Given the description of an element on the screen output the (x, y) to click on. 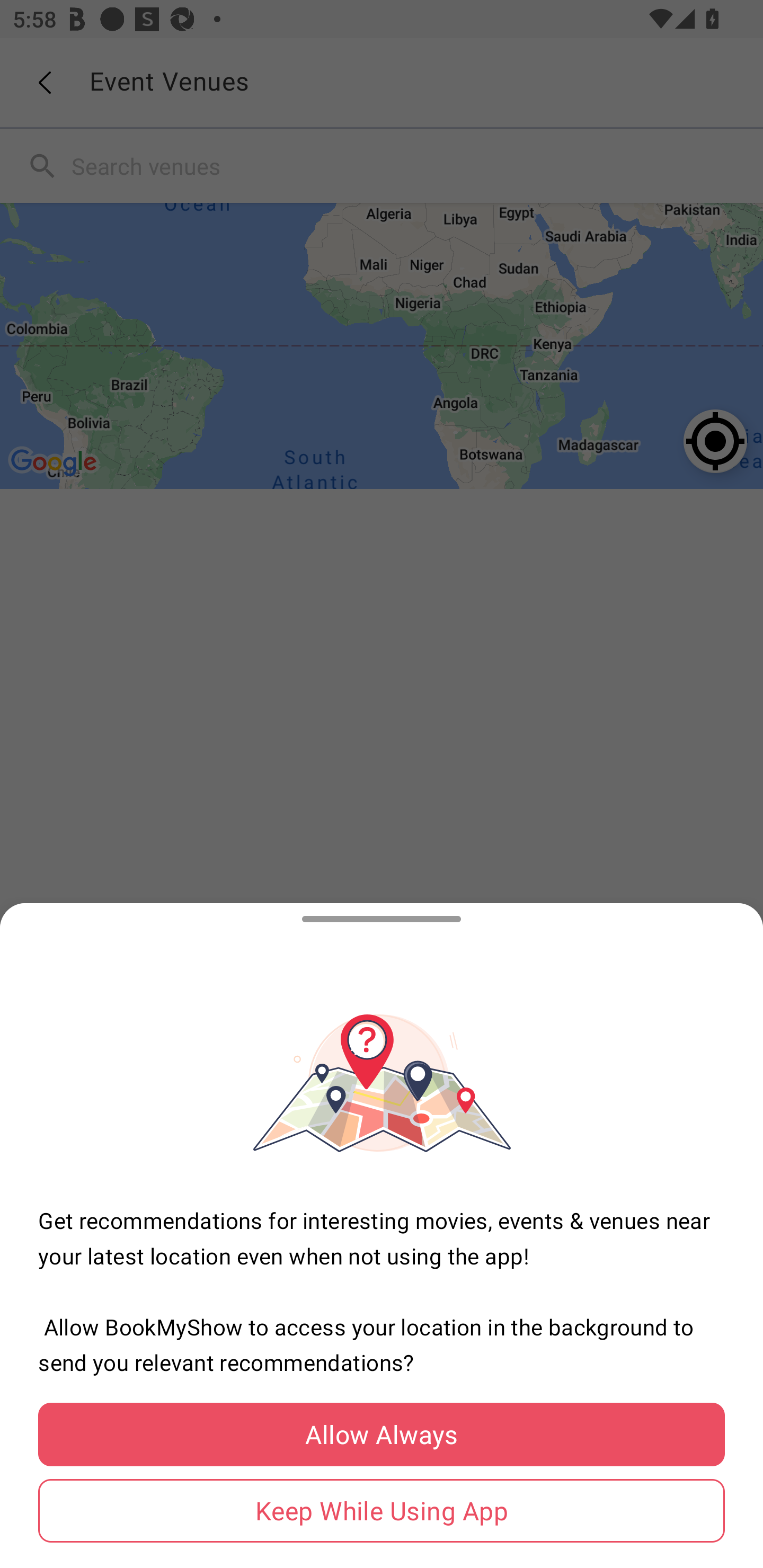
Allow Always (381, 1434)
Keep While Using App (381, 1510)
